Given the description of an element on the screen output the (x, y) to click on. 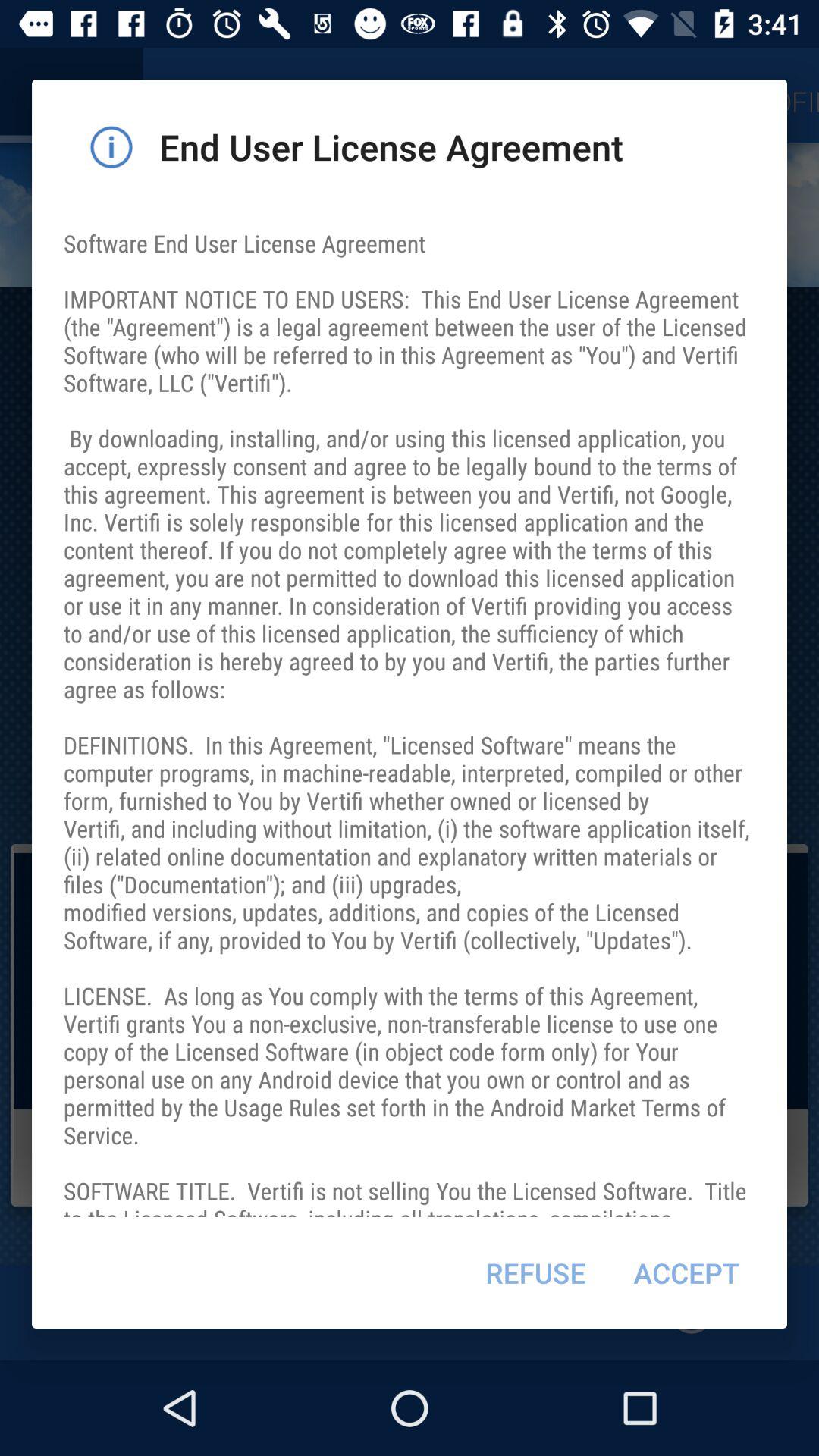
choose refuse (535, 1272)
